Given the description of an element on the screen output the (x, y) to click on. 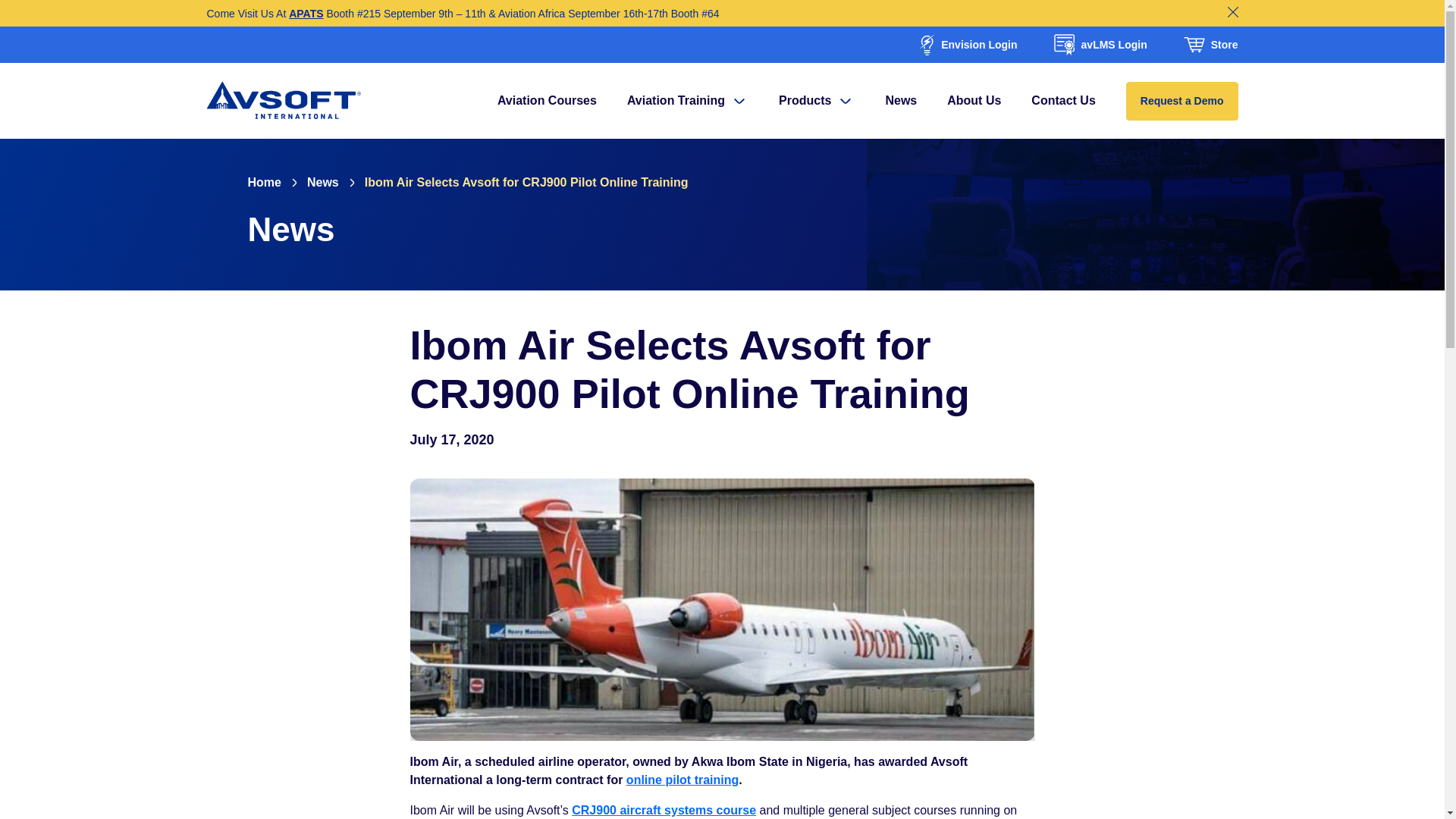
Contact Us (1062, 100)
Store (1209, 44)
News (323, 182)
APATS (305, 13)
Aviation Training (687, 100)
Envision Login (965, 44)
CRJ900 aircraft systems course (663, 809)
Aviation Courses (546, 100)
Home (264, 182)
avLMS Login (1099, 44)
